Given the description of an element on the screen output the (x, y) to click on. 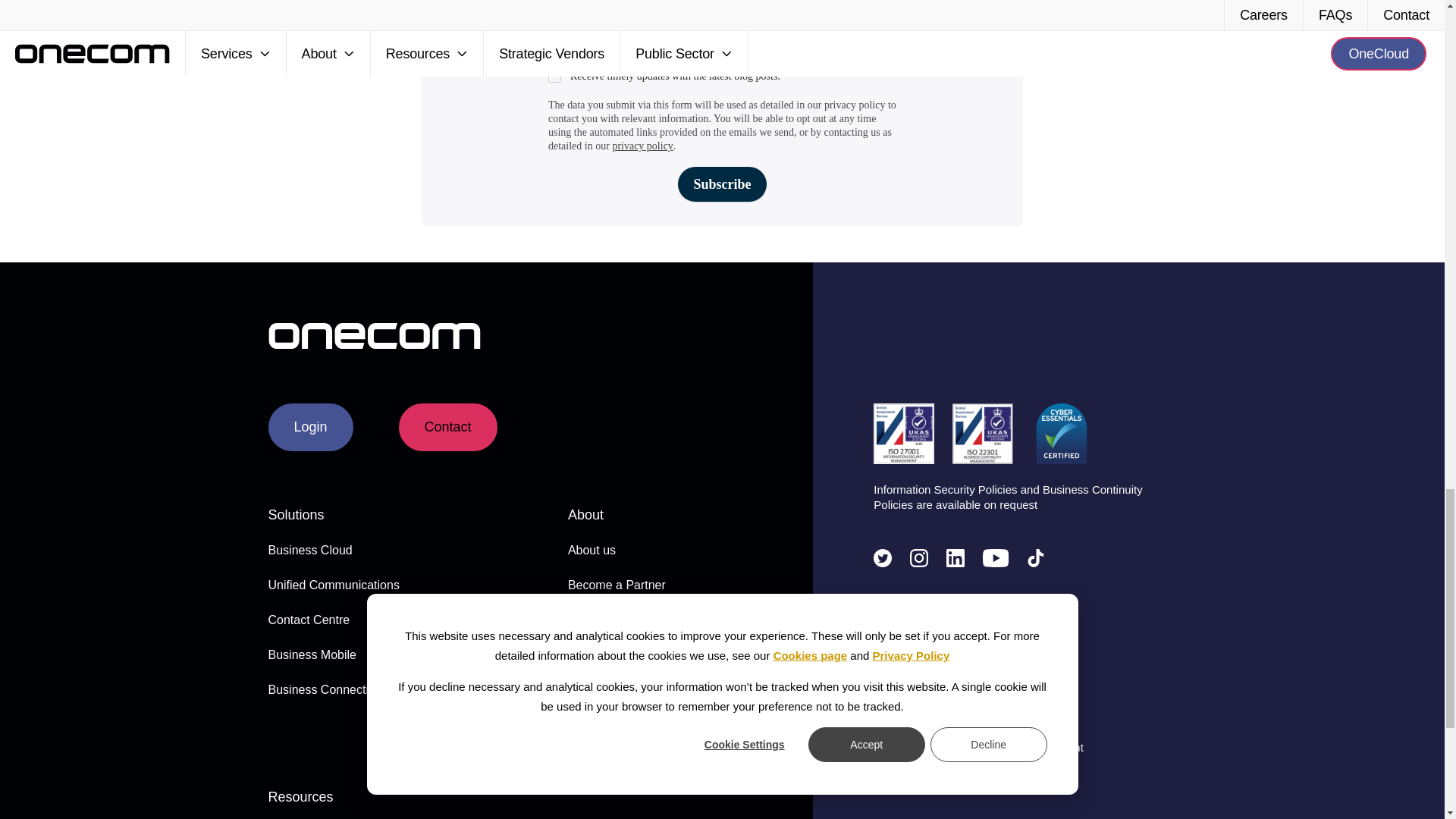
Subscribe (721, 184)
true (554, 75)
